Given the description of an element on the screen output the (x, y) to click on. 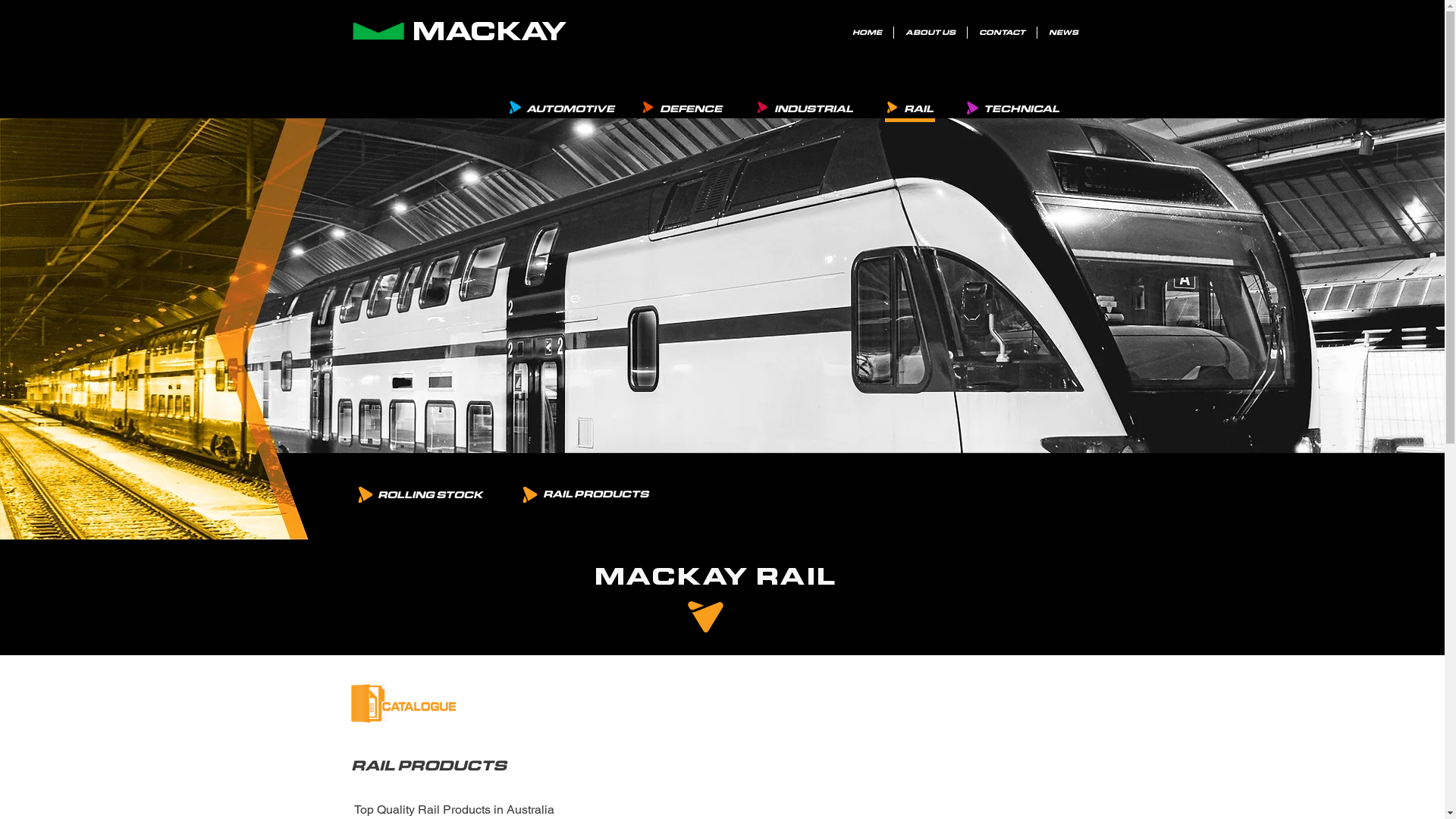
TECHNICAL Element type: text (1020, 108)
CONTACT Element type: text (1001, 32)
AUTOMOTIVE Element type: text (569, 108)
RAIL Element type: text (918, 108)
Logo.png Element type: hover (377, 31)
HOME Element type: text (866, 32)
Top Quality Rail Products in Australia Element type: text (453, 809)
DEFENCE Element type: text (689, 108)
RAIL PRODUCTS Element type: text (594, 494)
INDUSTRIAL Element type: text (812, 108)
ABOUT US Element type: text (930, 32)
NEWS Element type: text (1063, 32)
ROLLING STOCK Element type: text (429, 494)
